Given the description of an element on the screen output the (x, y) to click on. 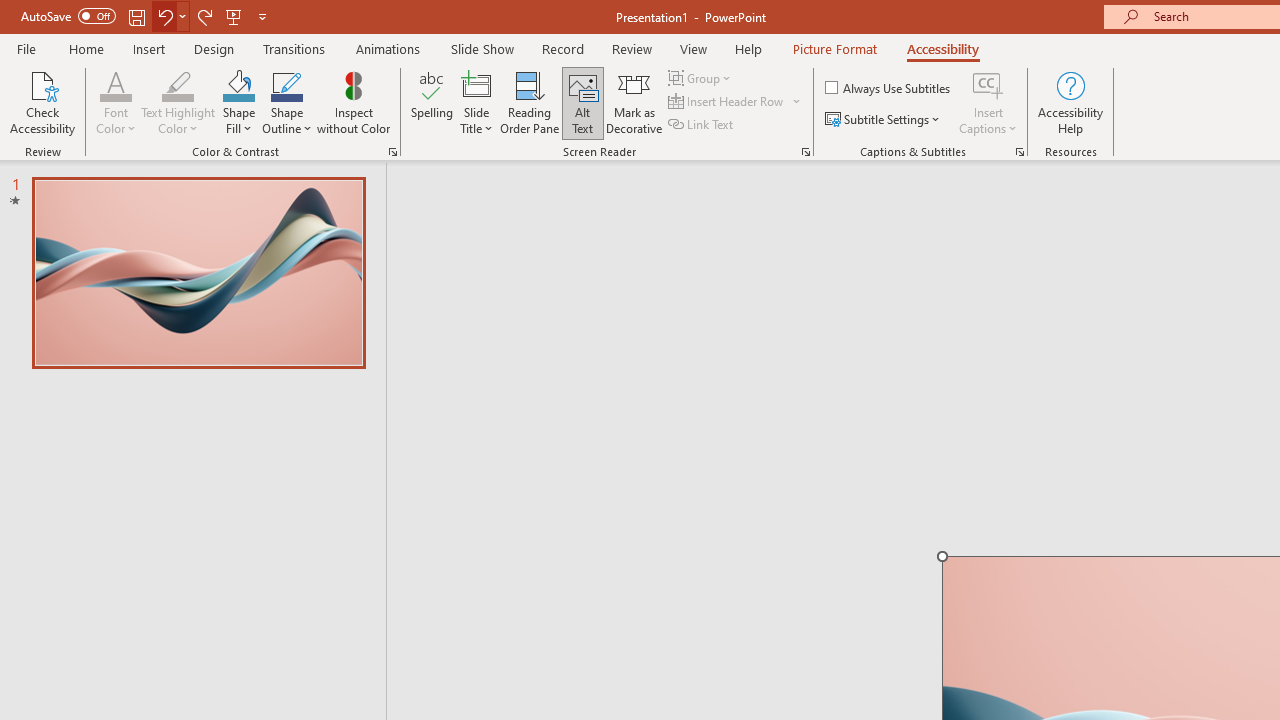
Reading Order Pane (529, 102)
Captions & Subtitles (1019, 151)
Link Text (702, 124)
